Given the description of an element on the screen output the (x, y) to click on. 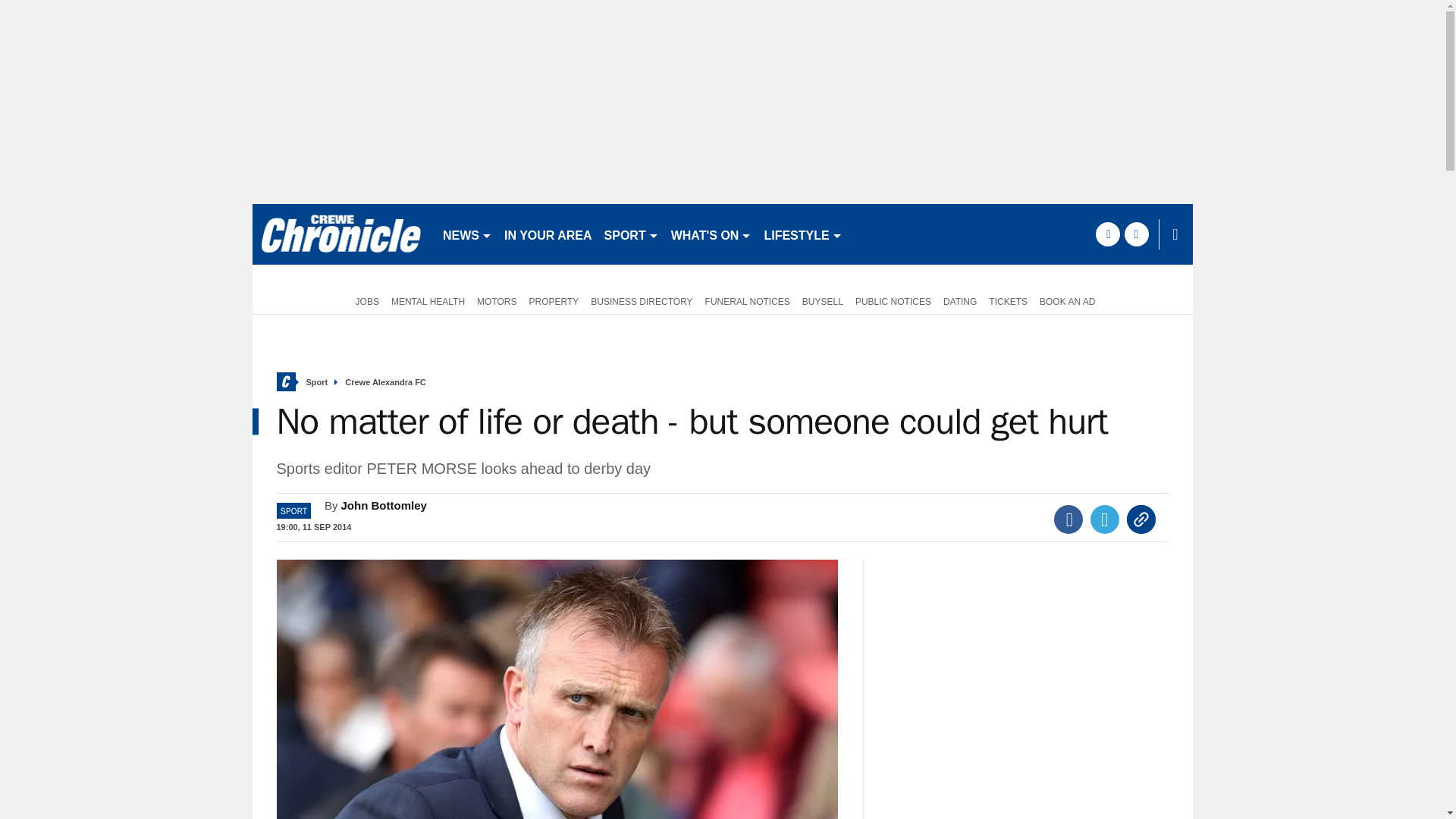
SPORT (631, 233)
twitter (1136, 233)
crewechronicle (340, 233)
WHAT'S ON (711, 233)
facebook (1106, 233)
Twitter (1104, 519)
Facebook (1068, 519)
LIFESTYLE (802, 233)
NEWS (466, 233)
IN YOUR AREA (547, 233)
